Given the description of an element on the screen output the (x, y) to click on. 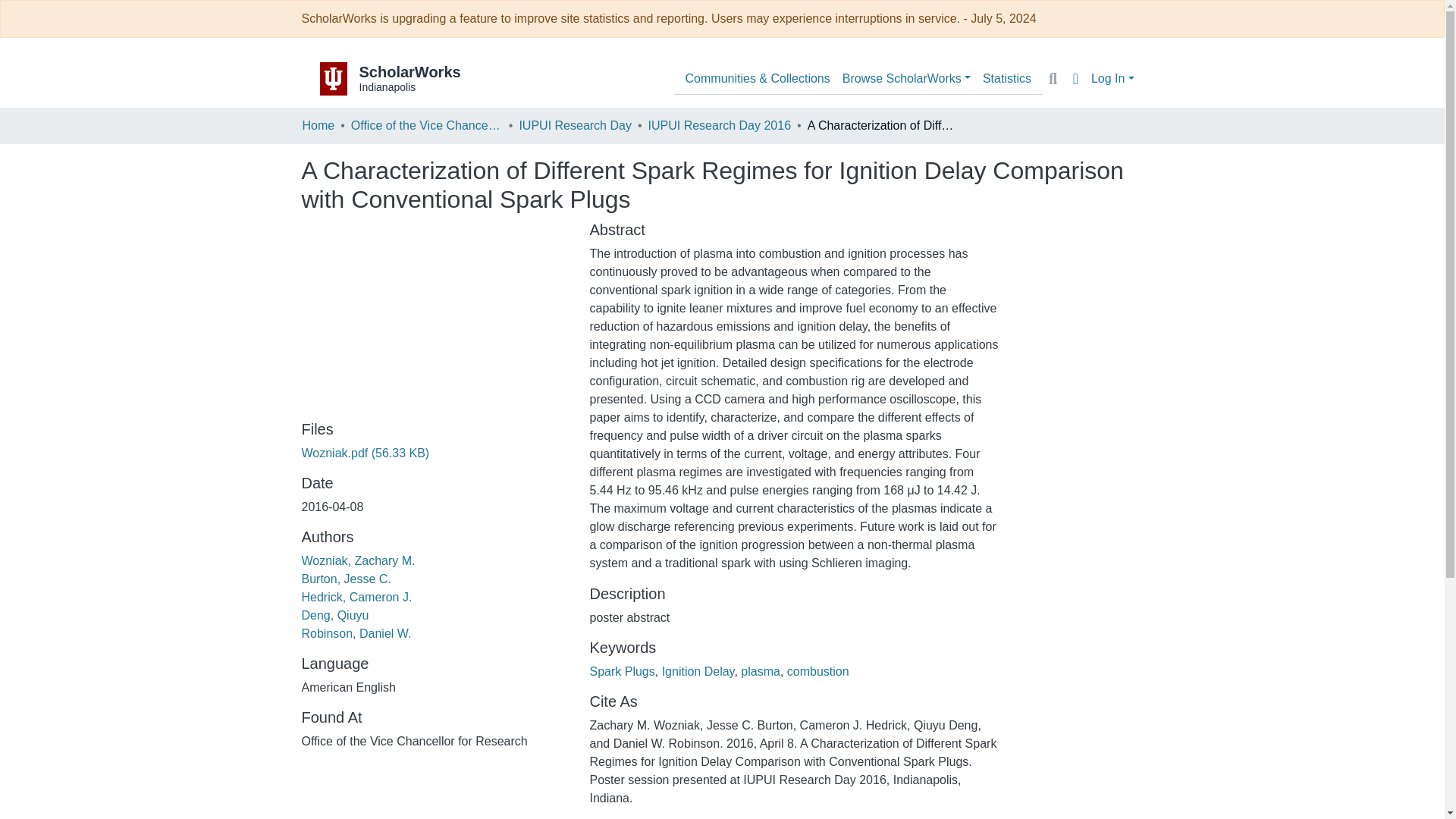
Home (317, 126)
Robinson, Daniel W. (356, 633)
plasma (760, 671)
Deng, Qiuyu (335, 615)
Hedrick, Cameron J. (356, 596)
Statistics (1006, 78)
Burton, Jesse C. (346, 578)
Spark Plugs (621, 671)
IUPUI Research Day 2016 (719, 126)
Search (1052, 78)
